Given the description of an element on the screen output the (x, y) to click on. 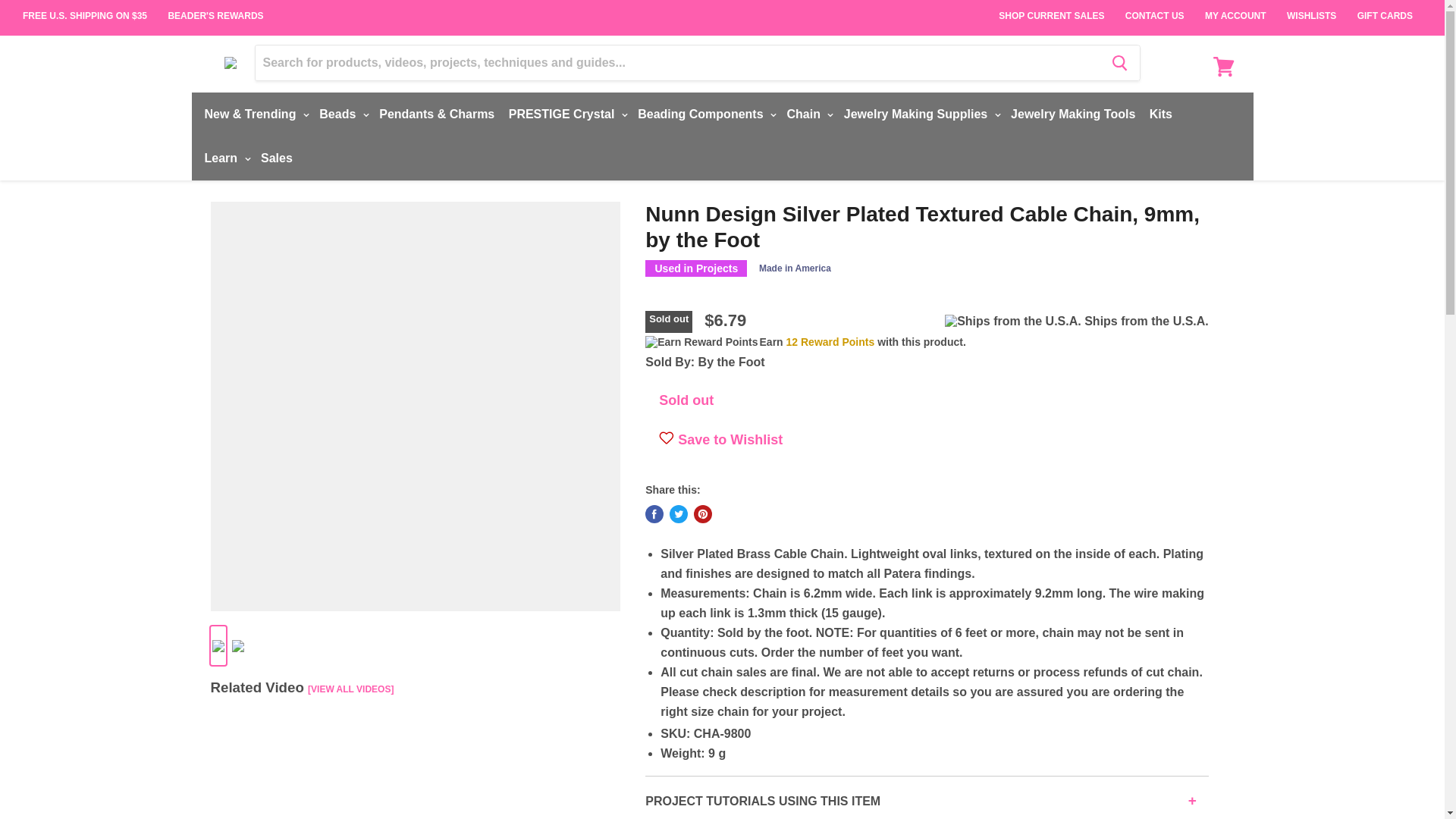
MY ACCOUNT (1235, 9)
CONTACT US (1154, 9)
BEADER'S REWARDS (215, 15)
WISHLISTS (1311, 9)
View cart (1223, 66)
GIFT CARDS (1385, 9)
Save to Wishlist (666, 439)
Beads (341, 114)
SHOP CURRENT SALES (1051, 9)
